Given the description of an element on the screen output the (x, y) to click on. 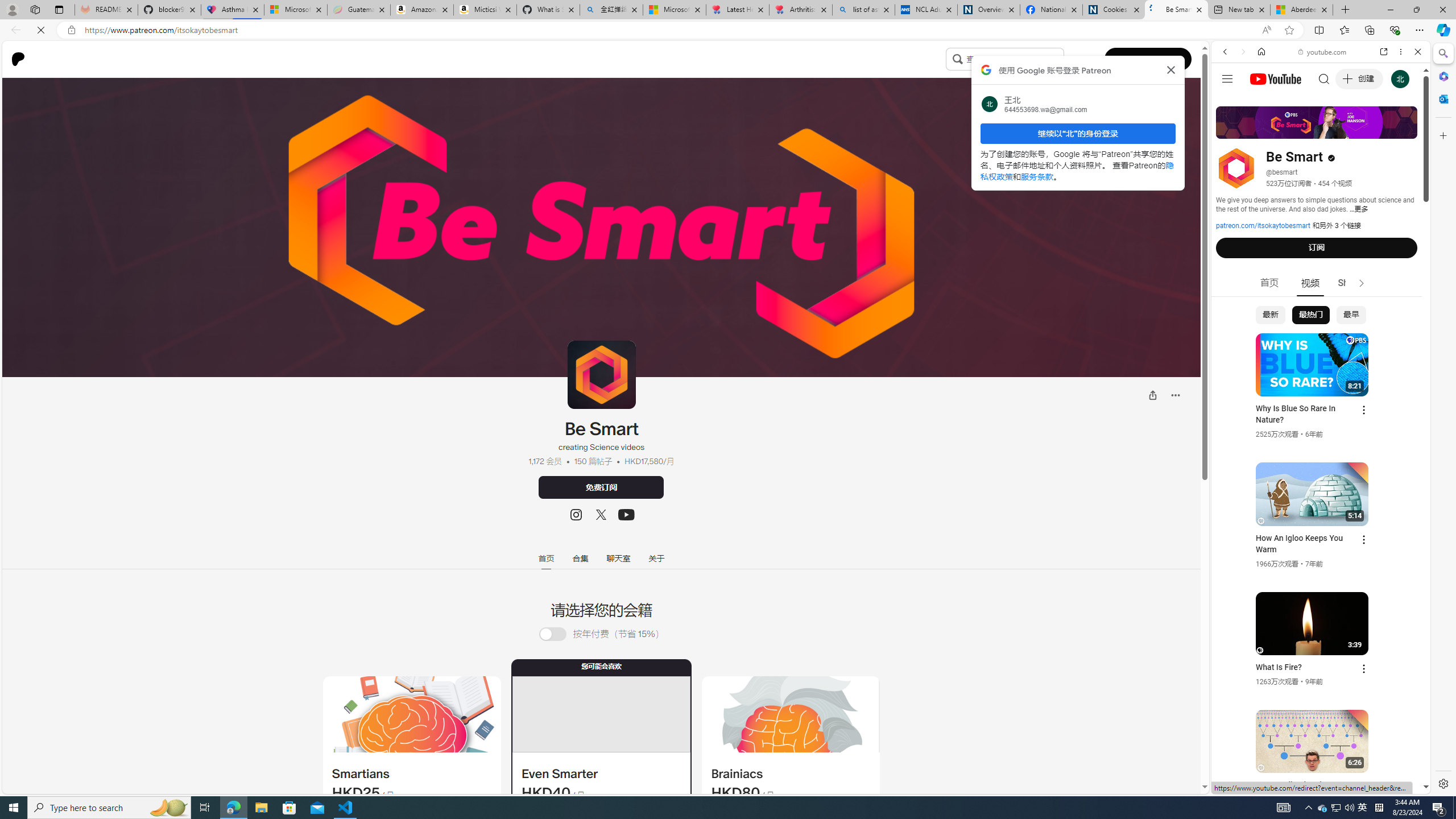
Search videos from youtube.com (1299, 373)
Cookies | About | NICE (1113, 9)
